Given the description of an element on the screen output the (x, y) to click on. 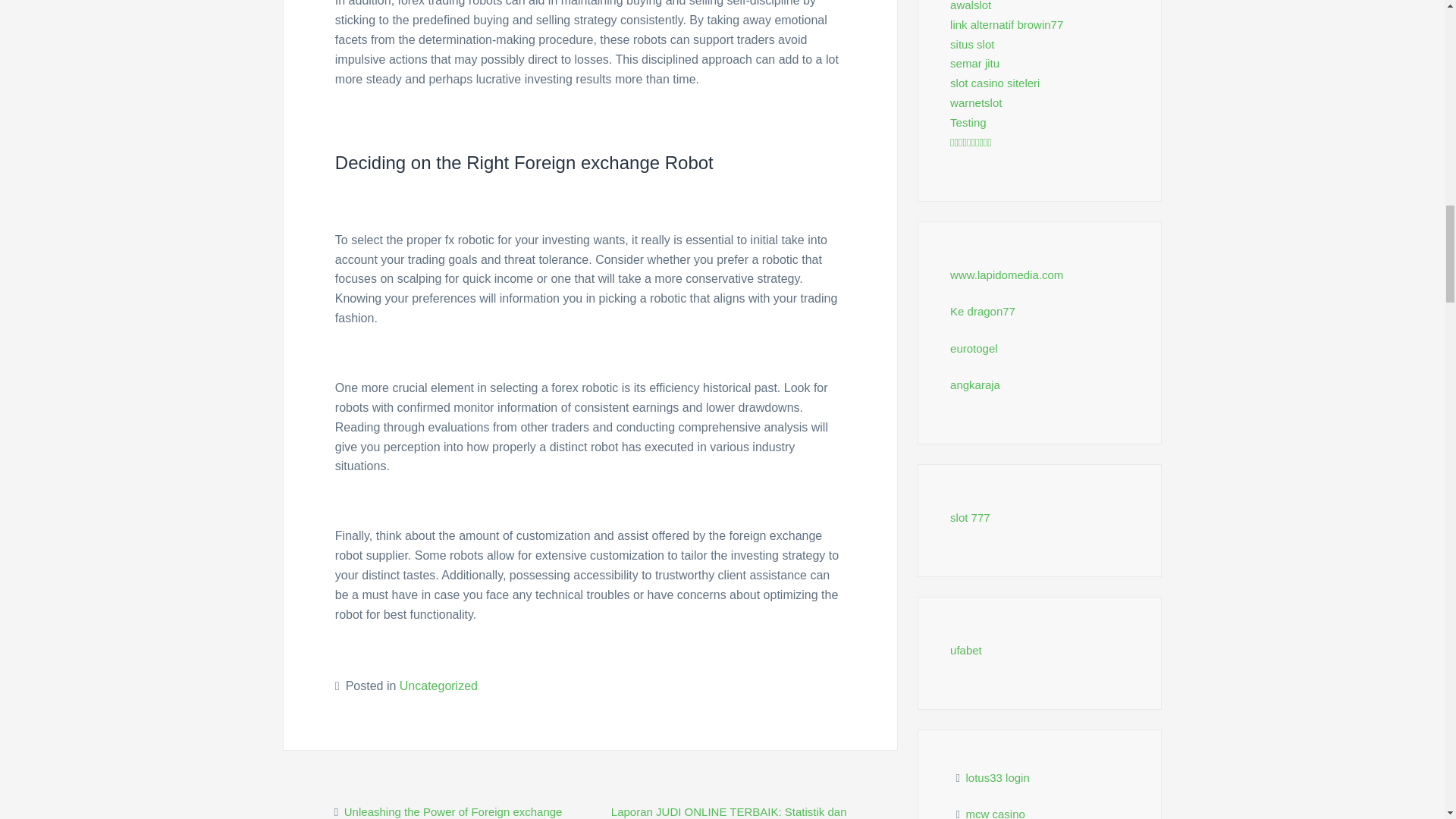
link alternatif browin77 (1006, 24)
Testing (968, 122)
slot casino siteleri (994, 82)
situs slot (972, 43)
Uncategorized (437, 685)
semar jitu (974, 62)
awalslot (970, 5)
Ke dragon77 (982, 310)
warnetslot (975, 102)
Laporan JUDI ONLINE TERBAIK: Statistik dan Fakta (729, 812)
www.lapidomedia.com (1006, 274)
